Given the description of an element on the screen output the (x, y) to click on. 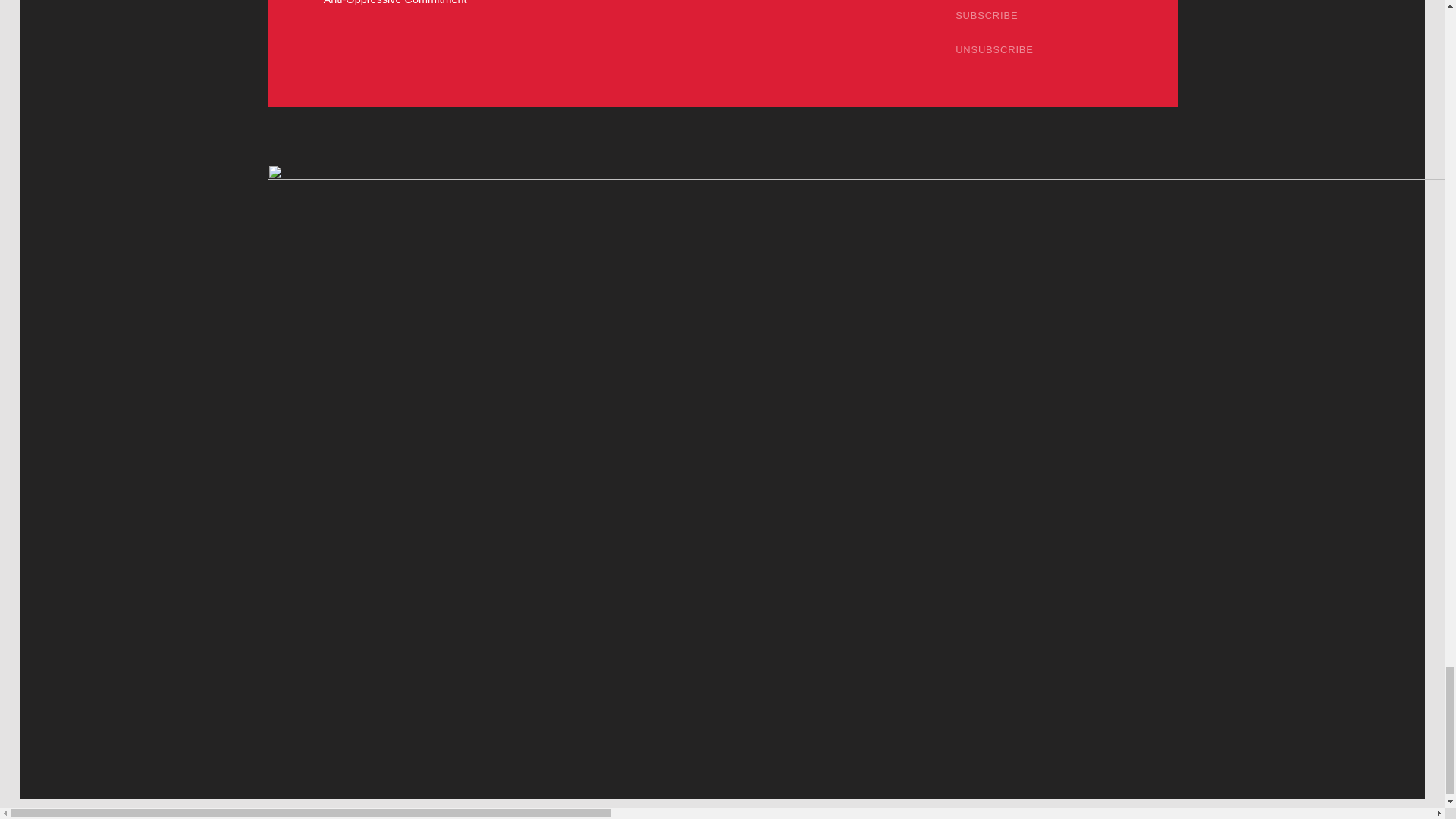
Subscribe (986, 16)
Unsubscribe (994, 50)
